Given the description of an element on the screen output the (x, y) to click on. 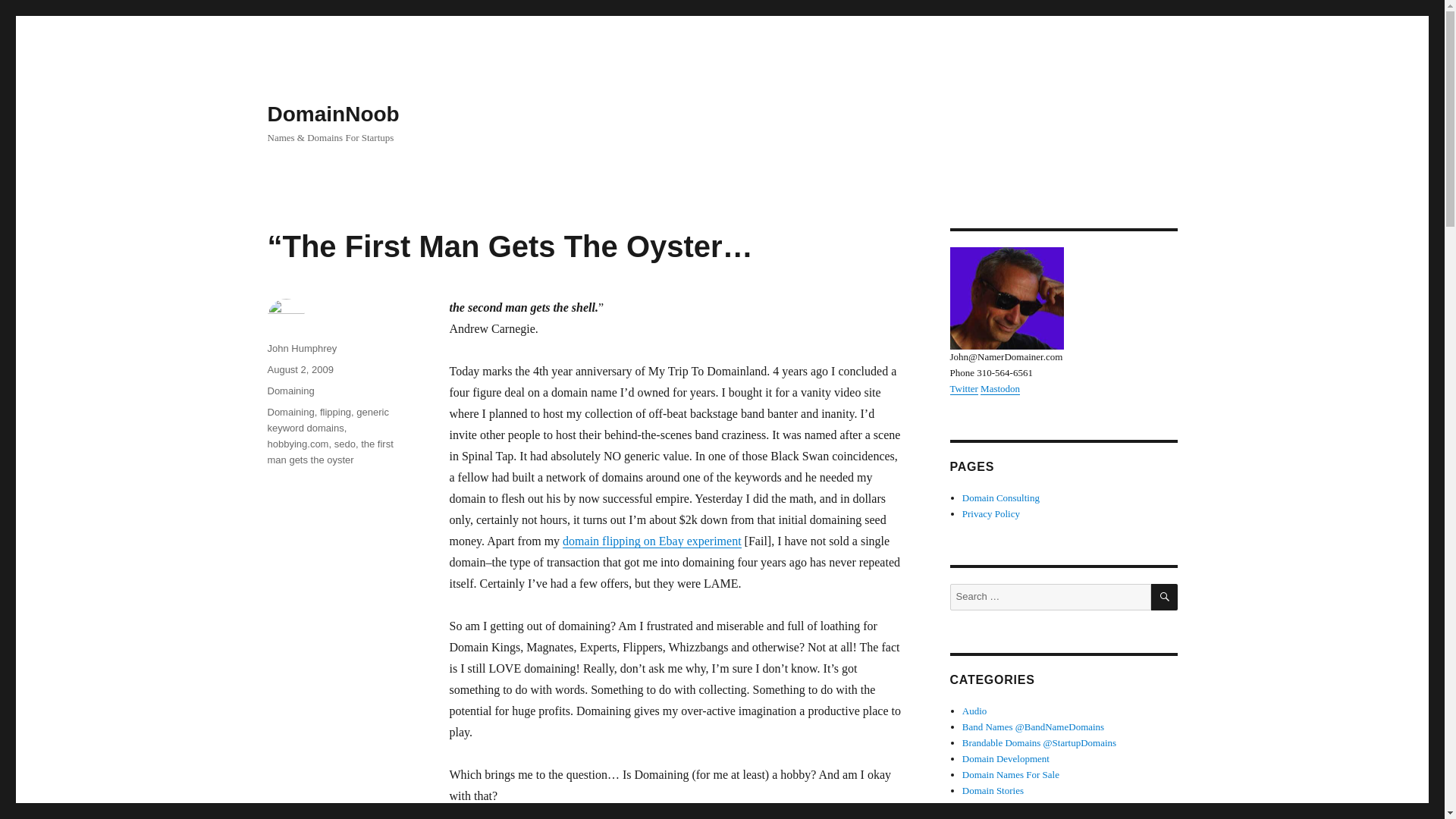
hobbying.com (297, 443)
generic keyword domains (327, 420)
August 2, 2009 (299, 369)
Domaining (290, 390)
sedo (344, 443)
domain flipping on Ebay experiment (651, 540)
Domain Development (1005, 758)
Domain Consulting (1000, 497)
SEARCH (1164, 596)
Privacy Policy (991, 513)
Twitter (962, 388)
DomainNoob (332, 114)
domain flippin on Ebay experiment (651, 540)
Audio (974, 710)
the first man gets the oyster (329, 452)
